Given the description of an element on the screen output the (x, y) to click on. 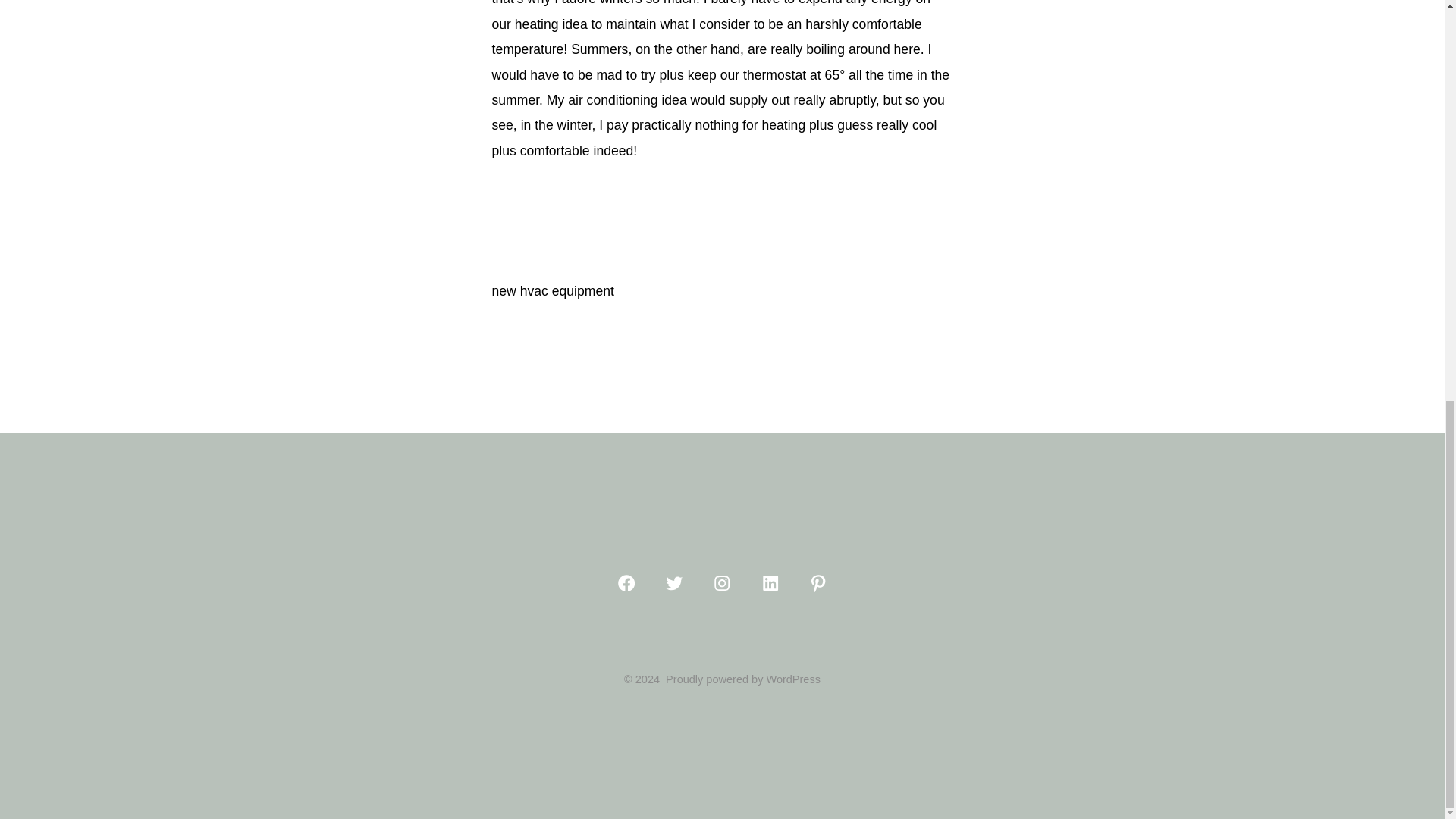
Open Twitter in a new tab (673, 583)
Open Instagram in a new tab (722, 583)
new hvac equipment (552, 290)
Open Facebook in a new tab (625, 583)
Open Pinterest in a new tab (818, 583)
Open LinkedIn in a new tab (770, 583)
